Given the description of an element on the screen output the (x, y) to click on. 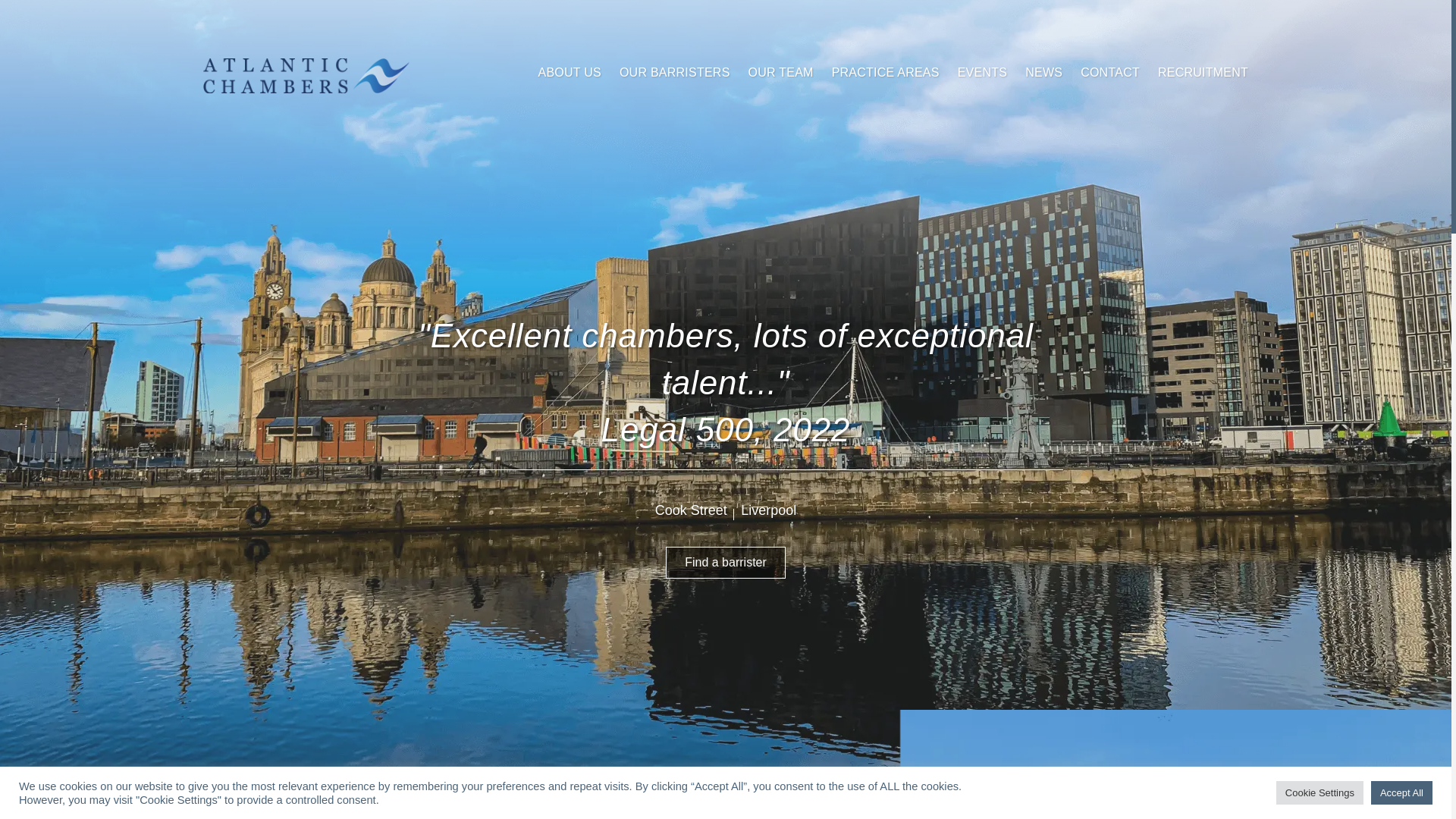
EVENTS (982, 72)
RECRUITMENT (1202, 72)
OUR TEAM (780, 72)
NEWS (1043, 72)
Find a barrister (725, 562)
ABOUT US (569, 72)
CONTACT (1110, 72)
OUR BARRISTERS (675, 72)
PRACTICE AREAS (885, 72)
